Given the description of an element on the screen output the (x, y) to click on. 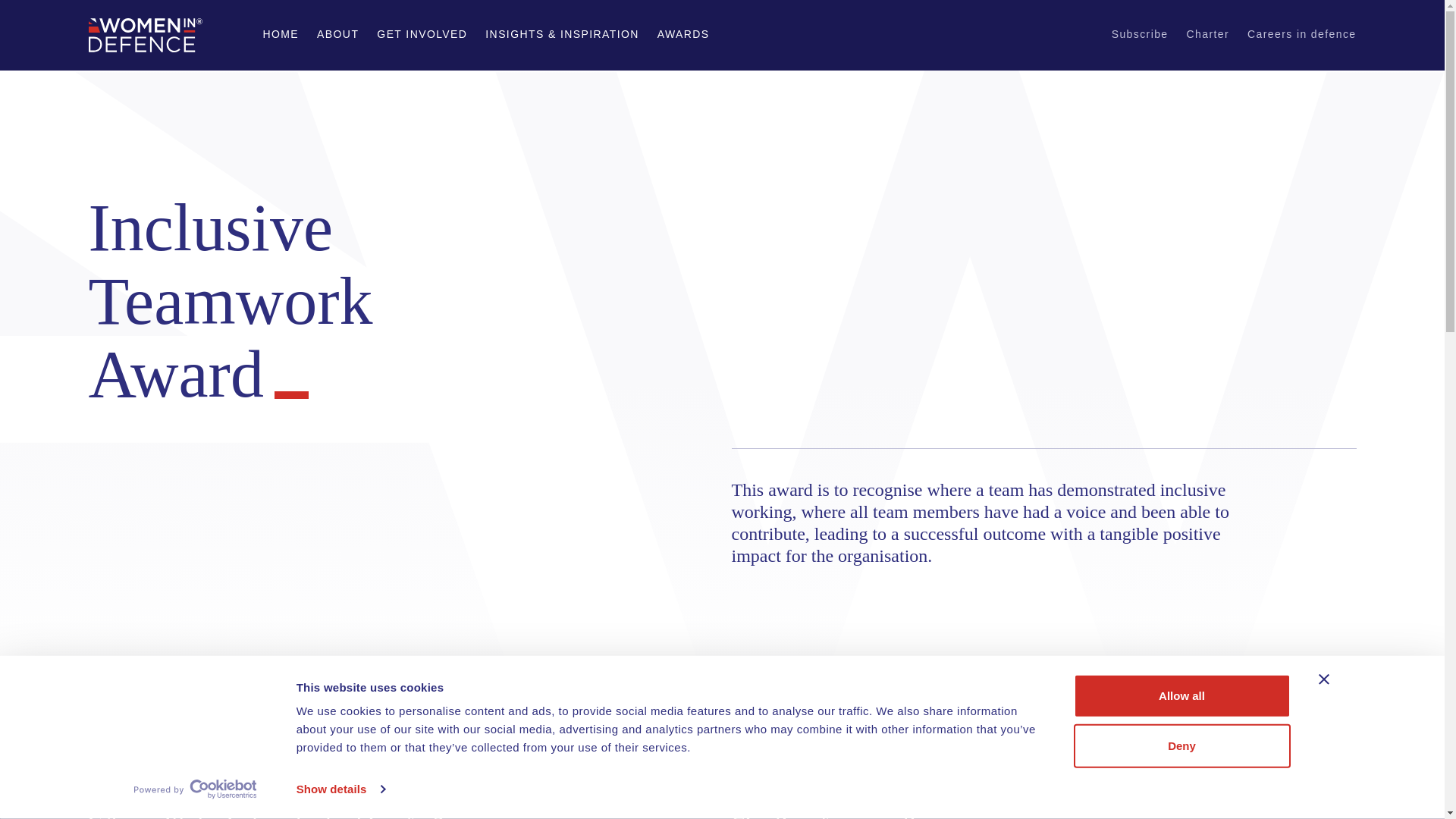
Show details (340, 789)
Allow all (1182, 696)
homepage (144, 35)
Deny (1182, 745)
